Given the description of an element on the screen output the (x, y) to click on. 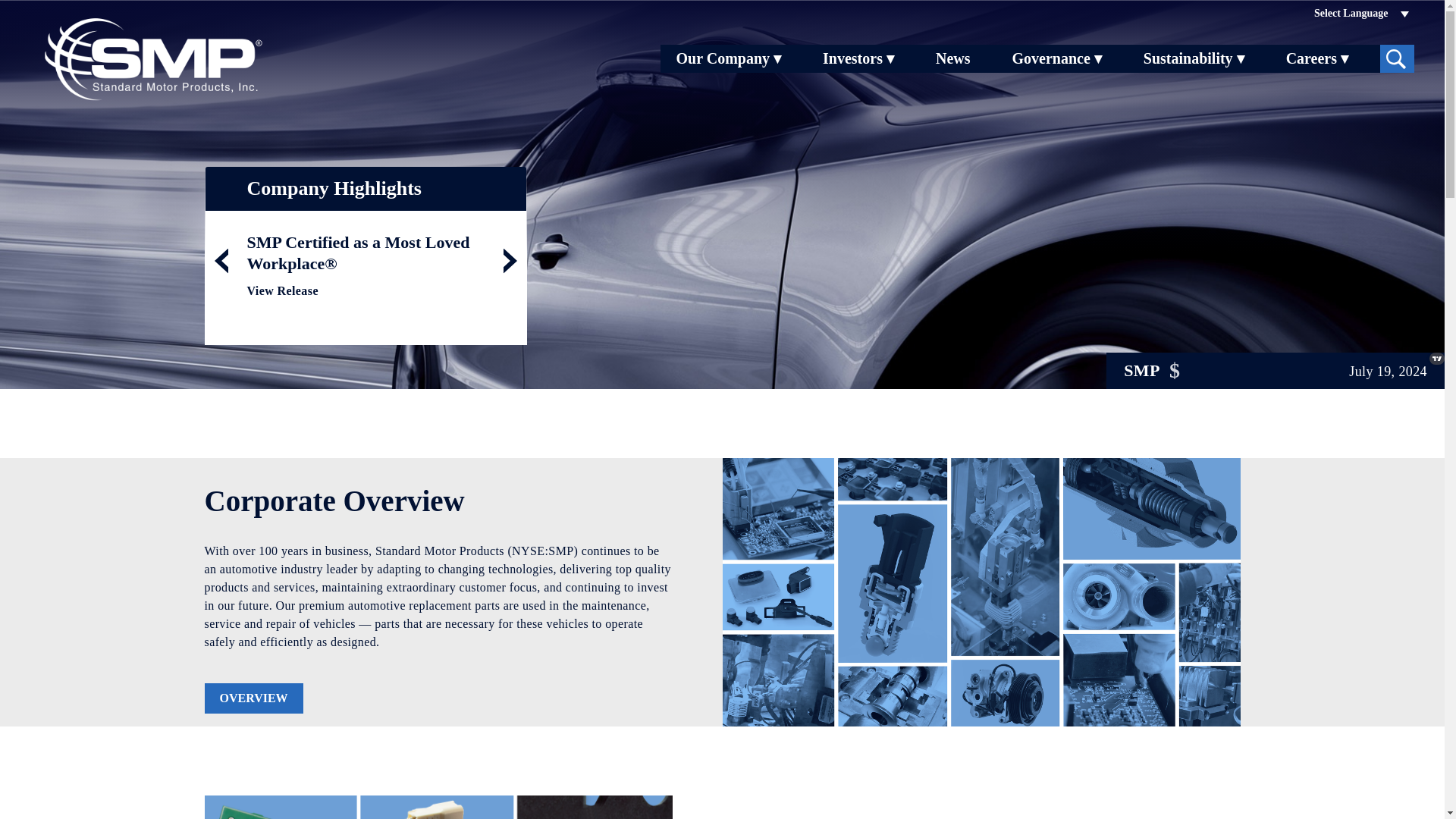
News (953, 58)
Select Language (1359, 12)
